Given the description of an element on the screen output the (x, y) to click on. 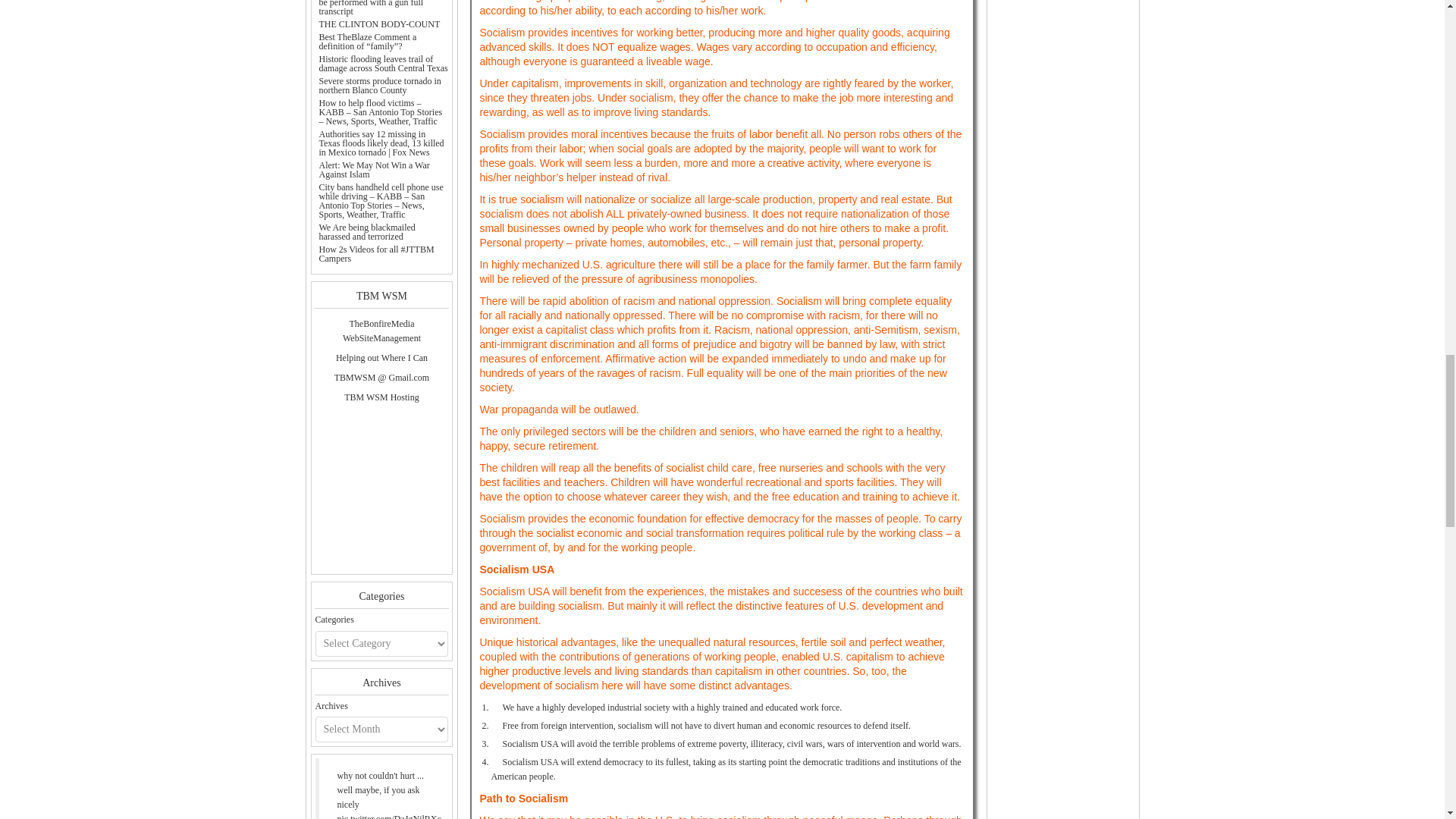
THE CLINTON BODY-COUNT (378, 23)
Severe storms produce tornado in northern Blanco County (379, 85)
